Given the description of an element on the screen output the (x, y) to click on. 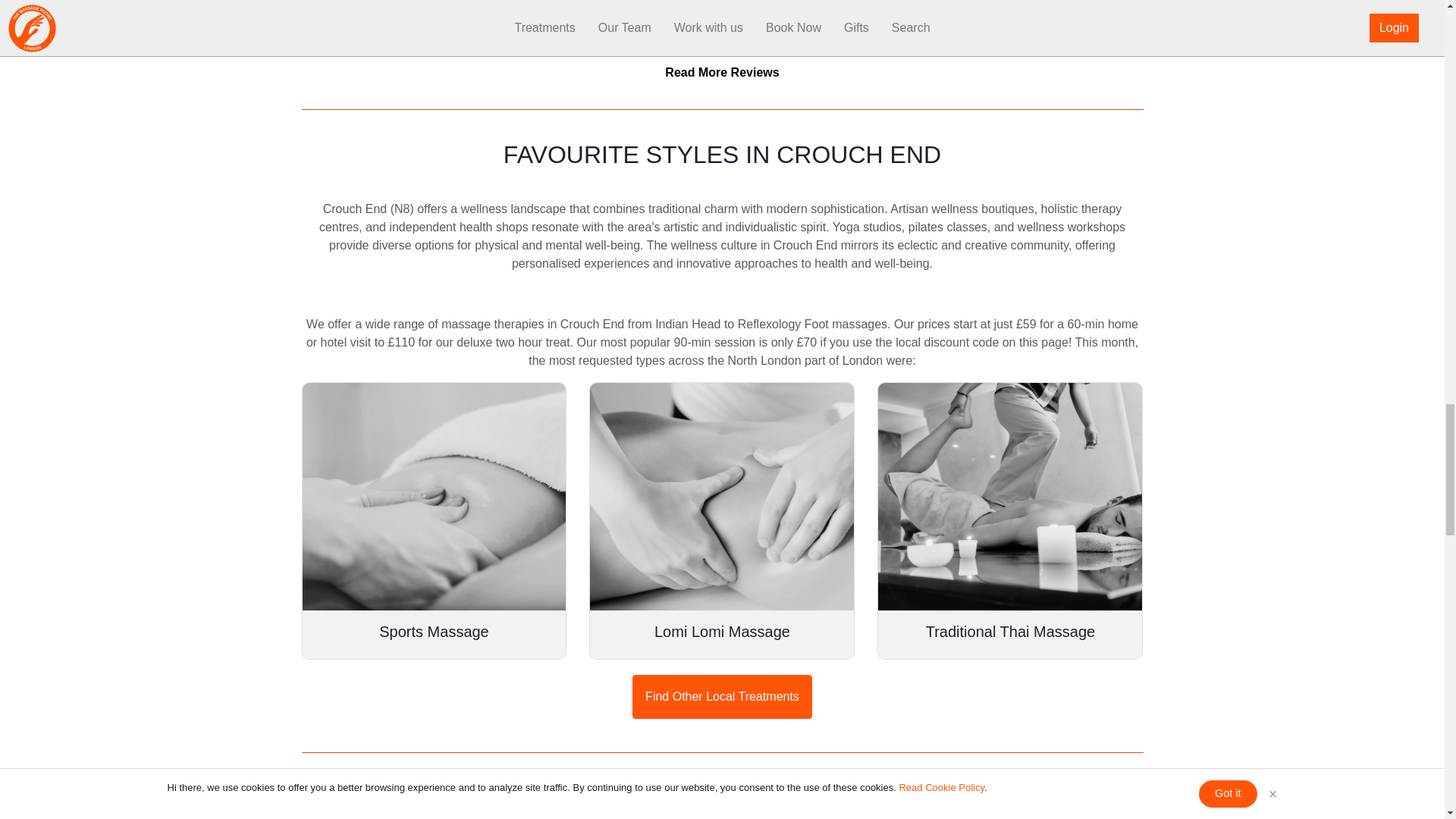
The favourite treatment amongst N8 locals (721, 496)
Sports Massage (434, 521)
Lomi Lomi Massage (721, 521)
Find Other Local Treatments (721, 696)
Visiting a home in Crouch End to perform massage therapy (1009, 496)
Read More Reviews (721, 72)
Crouch End's most requested massage type (433, 496)
Traditional Thai Massage (1009, 521)
